Given the description of an element on the screen output the (x, y) to click on. 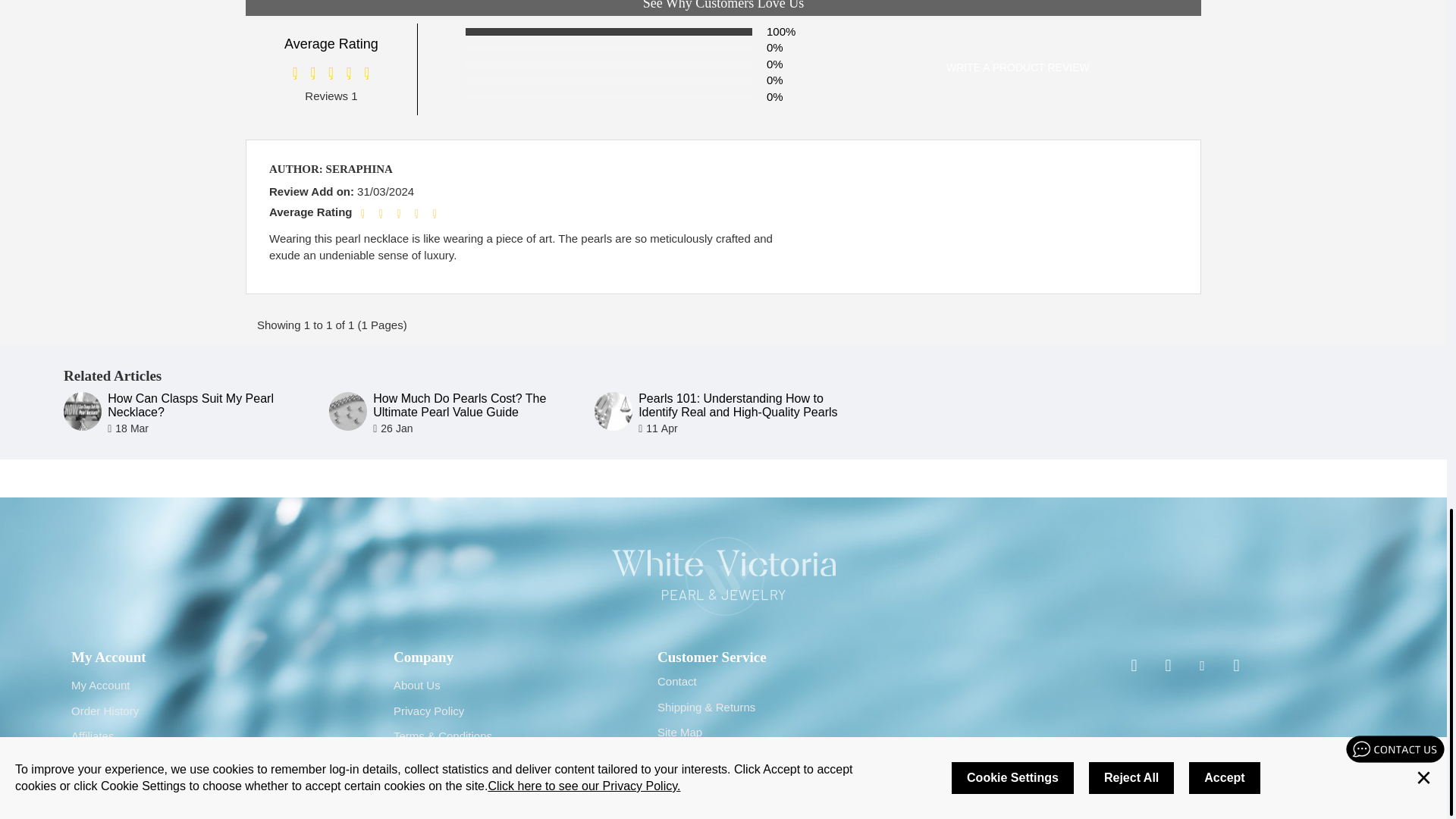
How Much Do Pearls Cost? The Ultimate Pearl Value Guide (347, 410)
How Can Clasps Suit My Pearl Necklace? (82, 410)
